Given the description of an element on the screen output the (x, y) to click on. 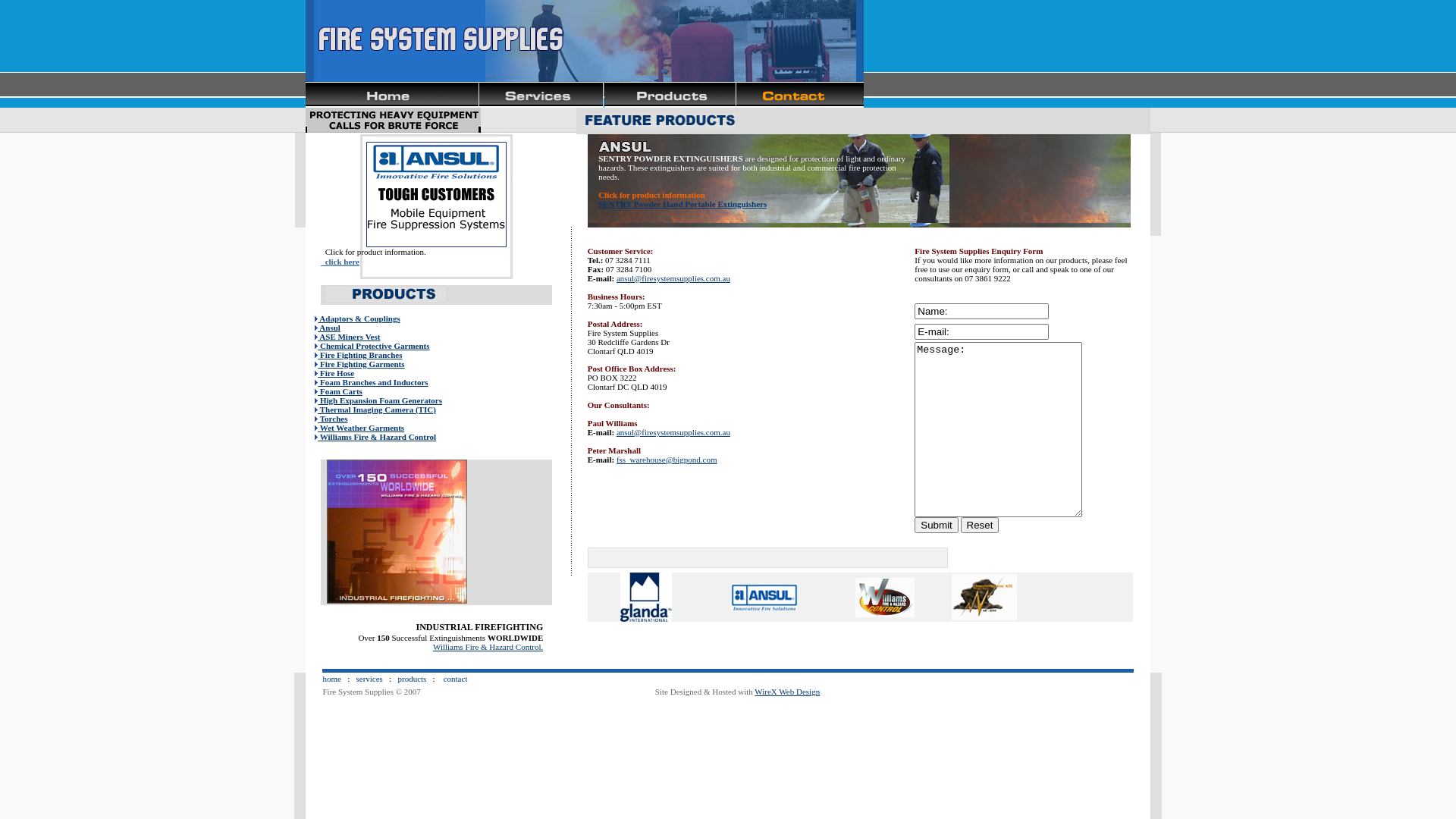
 Fire Fighting Branches Element type: text (357, 354)
ansul@firesystemsupplies.com.au Element type: text (673, 277)
 Adaptors & Couplings Element type: text (357, 318)
ansul@firesystemsupplies.com.au Element type: text (673, 431)
  click here Element type: text (339, 261)
services Element type: text (368, 677)
contact Element type: text (455, 677)
 Foam Carts Element type: text (338, 390)
WireX Web Design Element type: text (786, 691)
 Fire Hose Element type: text (334, 372)
 Ansul Element type: text (357, 332)
home Element type: text (331, 677)
 ASE Miners Vest Element type: text (346, 336)
 Foam Branches and Inductors Element type: text (370, 381)
 Thermal Imaging Camera (TIC) Element type: text (375, 409)
SENTRY Powder Hand Portable Extinguishers Element type: text (682, 202)
 High Expansion Foam Generators Element type: text (378, 399)
 Williams Fire & Hazard Control Element type: text (375, 436)
Submit Element type: text (935, 525)
 Wet Weather Garments Element type: text (359, 427)
 Fire Fighting Garments Element type: text (359, 363)
Williams Fire & Hazard Control. Element type: text (487, 646)
 Torches Element type: text (330, 418)
products Element type: text (411, 677)
fss_warehouse@bigpond.com Element type: text (666, 459)
 Chemical Protective Garments Element type: text (371, 345)
